Given the description of an element on the screen output the (x, y) to click on. 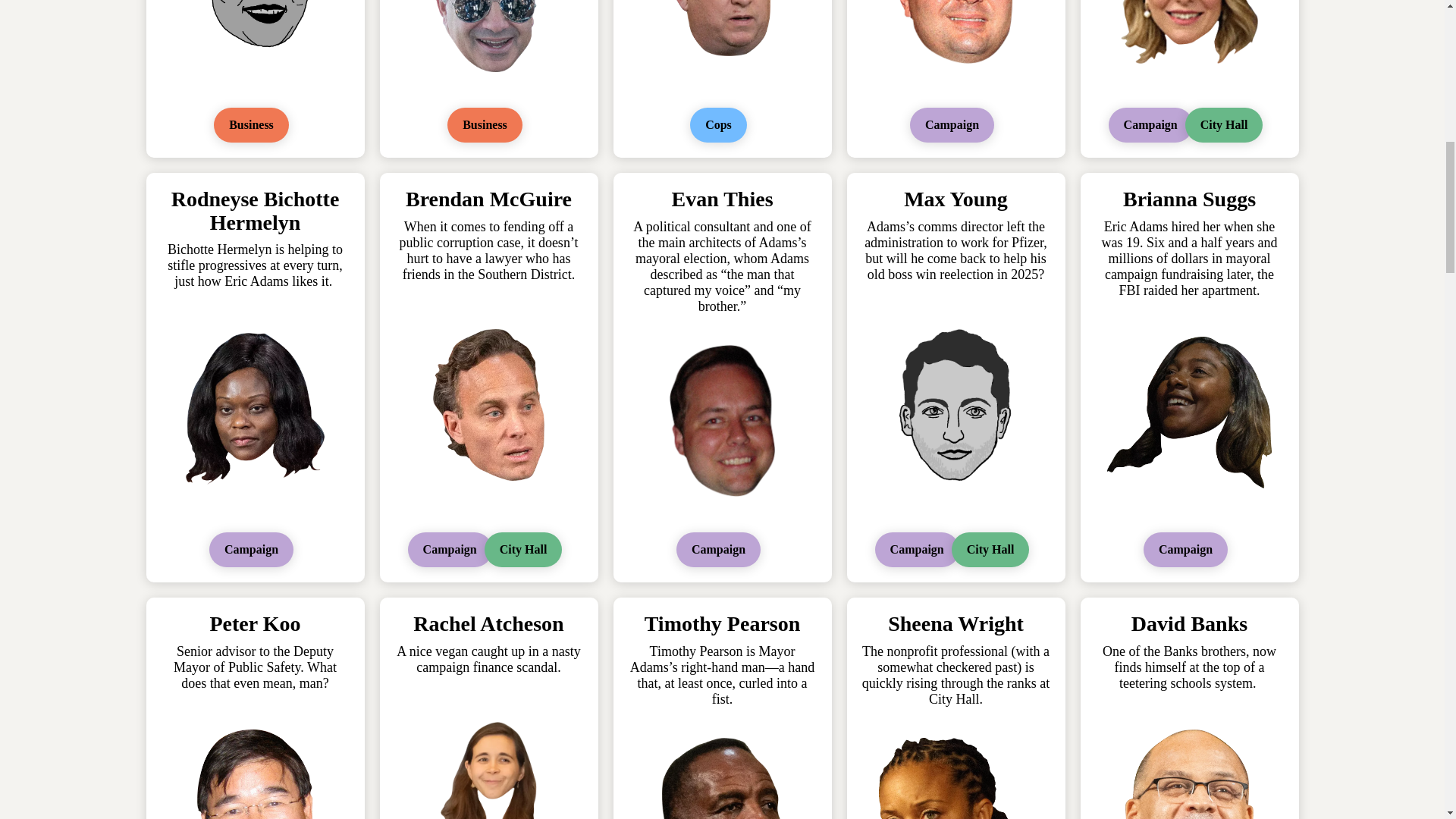
Business (484, 124)
Campaign (718, 549)
City Hall (1224, 124)
Max Young (955, 198)
City Hall (523, 549)
Campaign (449, 549)
Business (251, 124)
Evan Thies (722, 198)
Rodneyse Bichotte Hermelyn (255, 210)
Brendan McGuire (489, 198)
